Given the description of an element on the screen output the (x, y) to click on. 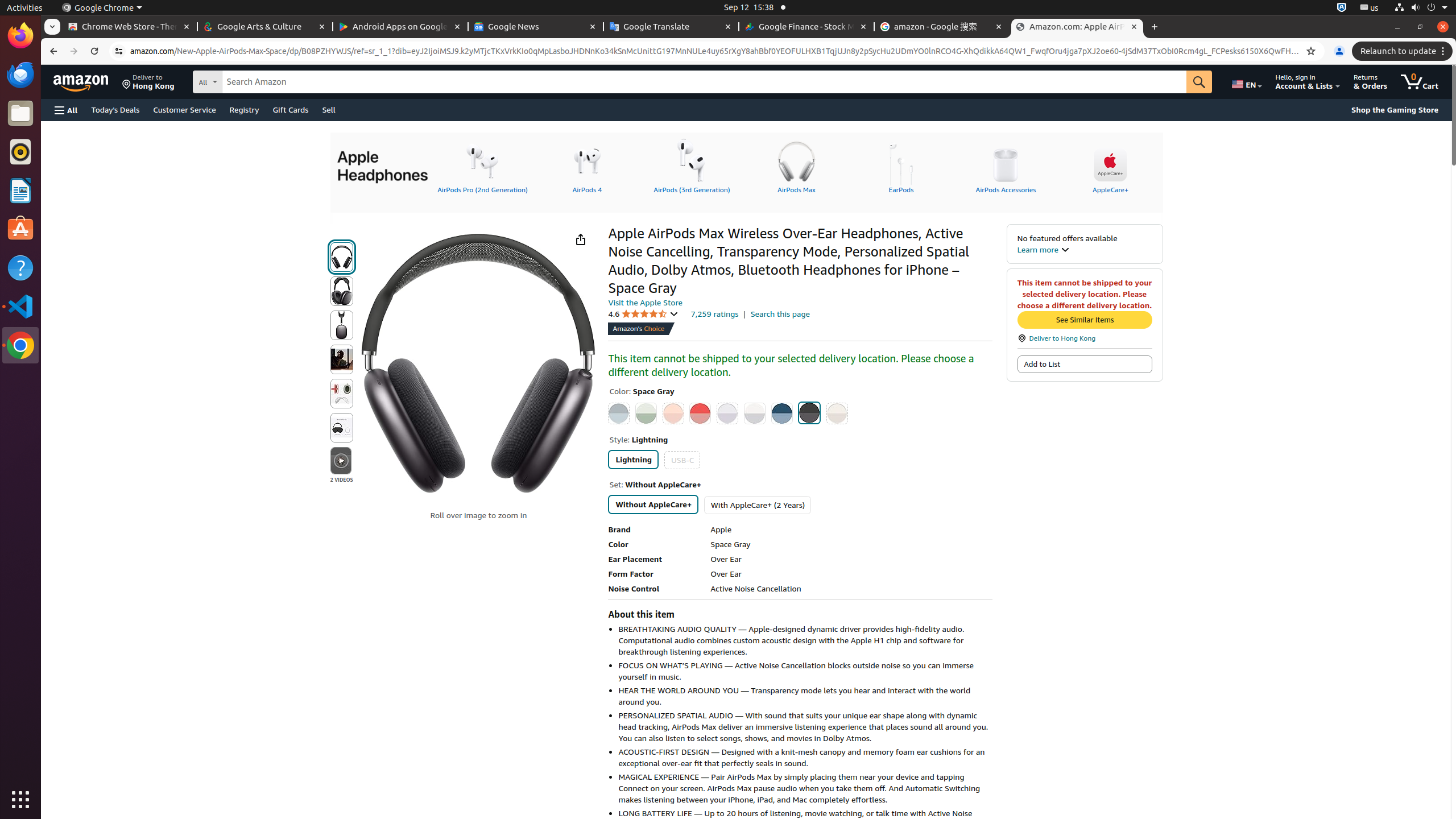
:1.21/StatusNotifierItem Element type: menu (1369, 7)
AirPods Max Element type: link (796, 165)
Lightning Element type: push-button (633, 459)
Forward Element type: push-button (73, 50)
Help Element type: push-button (20, 267)
